Given the description of an element on the screen output the (x, y) to click on. 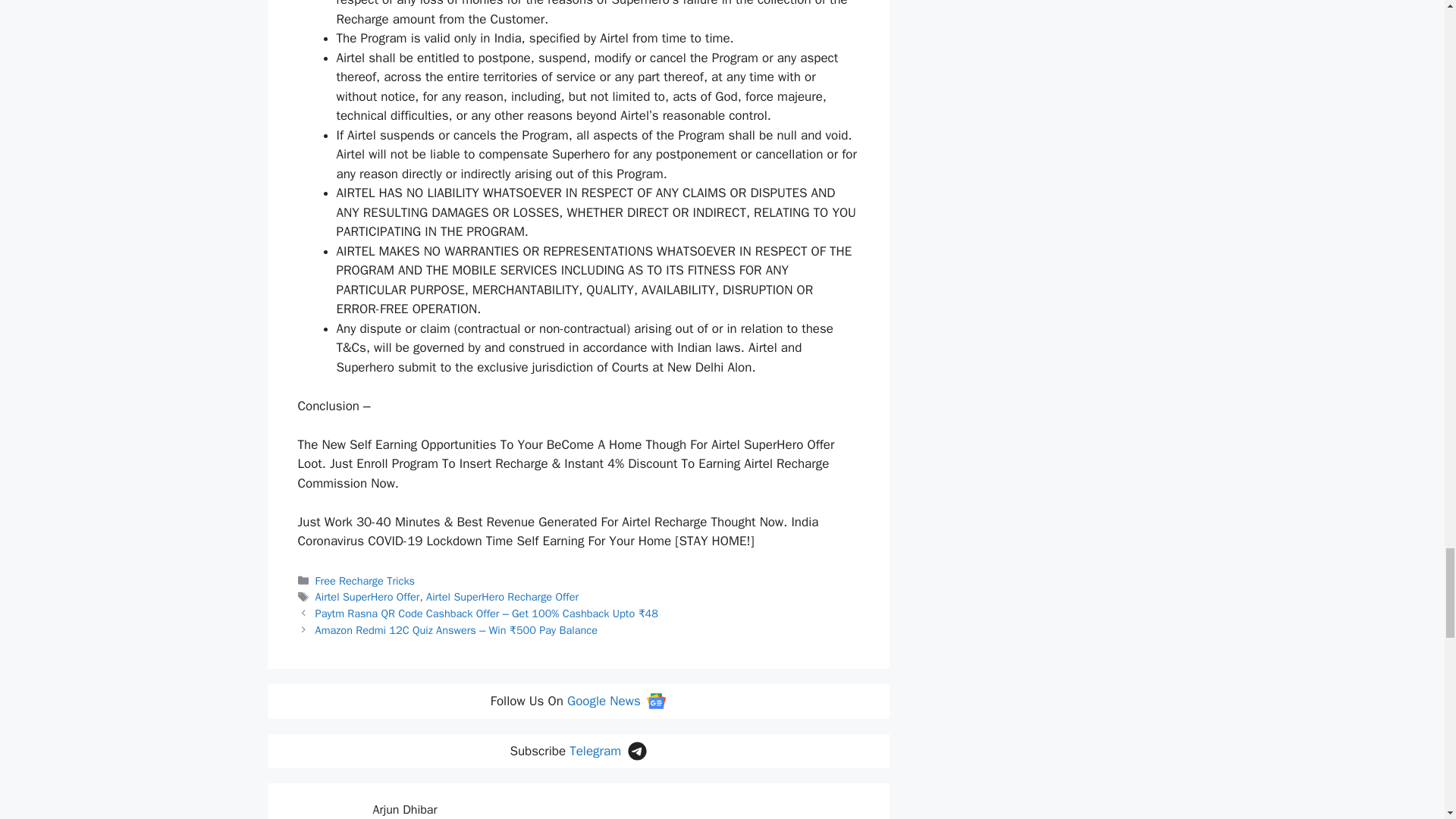
Free Recharge Tricks (364, 581)
Airtel SuperHero Recharge Offer (502, 596)
Airtel SuperHero Offer (367, 596)
